Given the description of an element on the screen output the (x, y) to click on. 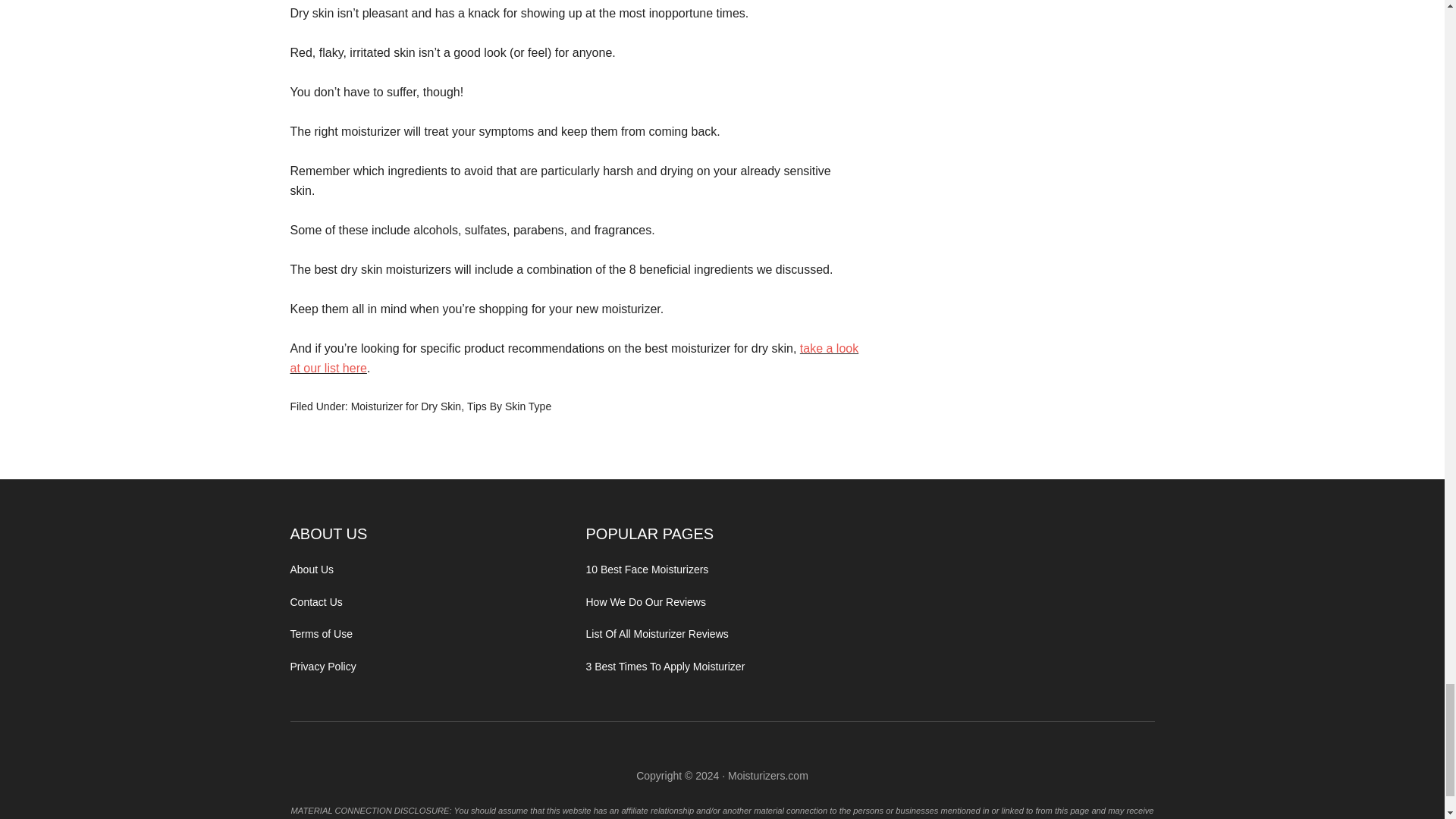
Tips By Skin Type (509, 406)
Moisturizer for Dry Skin (405, 406)
take a look at our list here (574, 358)
